Given the description of an element on the screen output the (x, y) to click on. 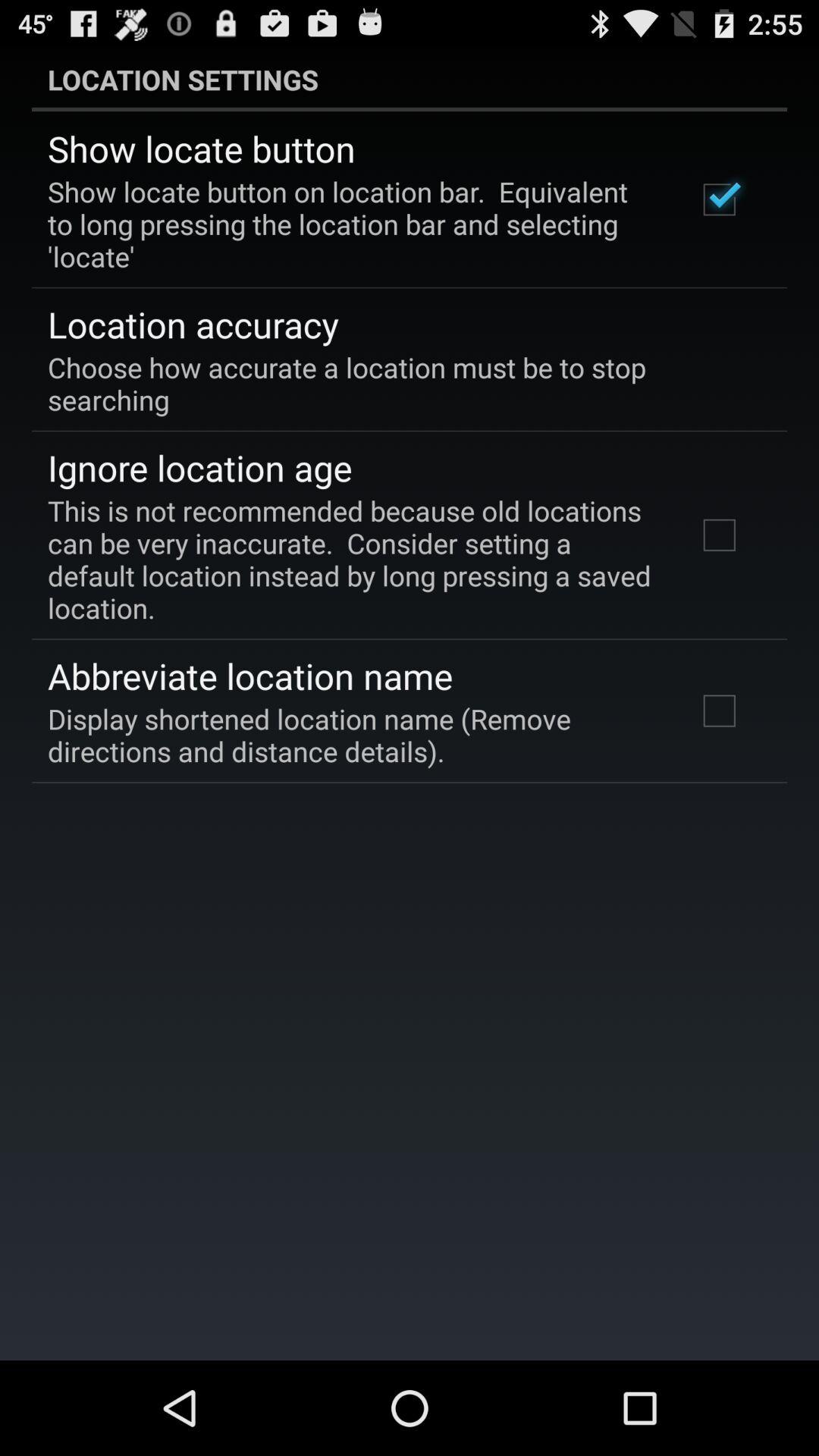
press item above ignore location age item (399, 383)
